Given the description of an element on the screen output the (x, y) to click on. 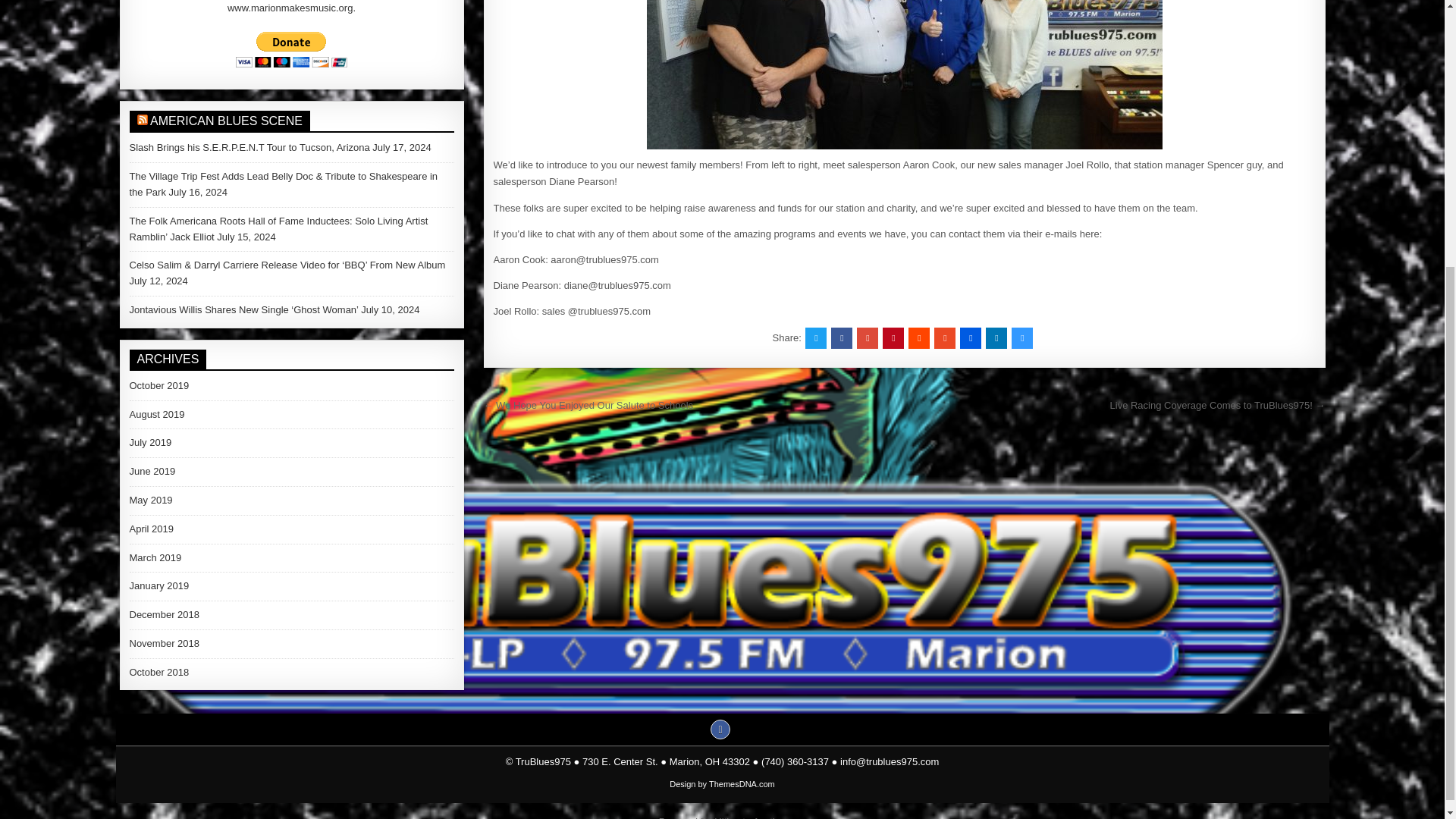
Share this on Delicious (1021, 337)
Share this on Reddit (919, 337)
Share this on Pinterest (893, 337)
Slash Brings his S.E.R.P.E.N.T Tour to Tucson, Arizona (249, 147)
Permanent Link to Meet Our New Sales Team! (903, 74)
Share this on Linkedin (996, 337)
Share this on Stumbleupon (944, 337)
PayPal - The safer, easier way to pay online! (291, 49)
Share this on Digg (970, 337)
Tweet This! (816, 337)
Share this on Facebook (841, 337)
Facebook (720, 729)
www.marionmakesmusic.org (289, 7)
AMERICAN BLUES SCENE (225, 120)
